Given the description of an element on the screen output the (x, y) to click on. 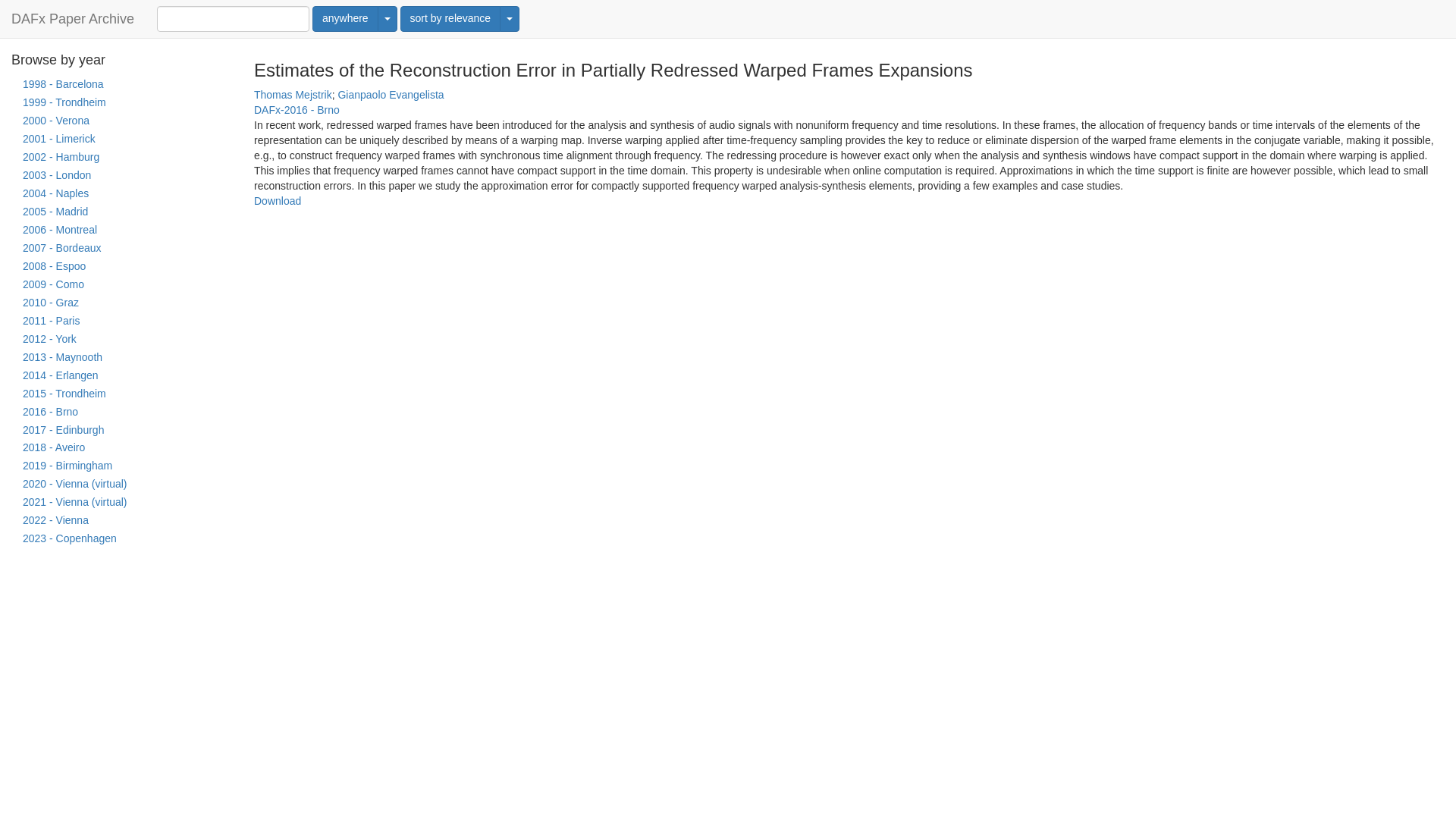
2012 - York (121, 339)
2016 - Brno (121, 412)
2022 - Vienna (121, 520)
2006 - Montreal (121, 230)
Thomas Mejstrik (292, 94)
2010 - Graz (121, 303)
2007 - Bordeaux (121, 248)
sort by relevance (450, 18)
2000 - Verona (121, 121)
DAFx-2016 - Brno (296, 110)
Gianpaolo Evangelista (390, 94)
1998 - Barcelona (121, 85)
2013 - Maynooth (121, 357)
DAFx Paper Archive (72, 18)
2004 - Naples (121, 194)
